Given the description of an element on the screen output the (x, y) to click on. 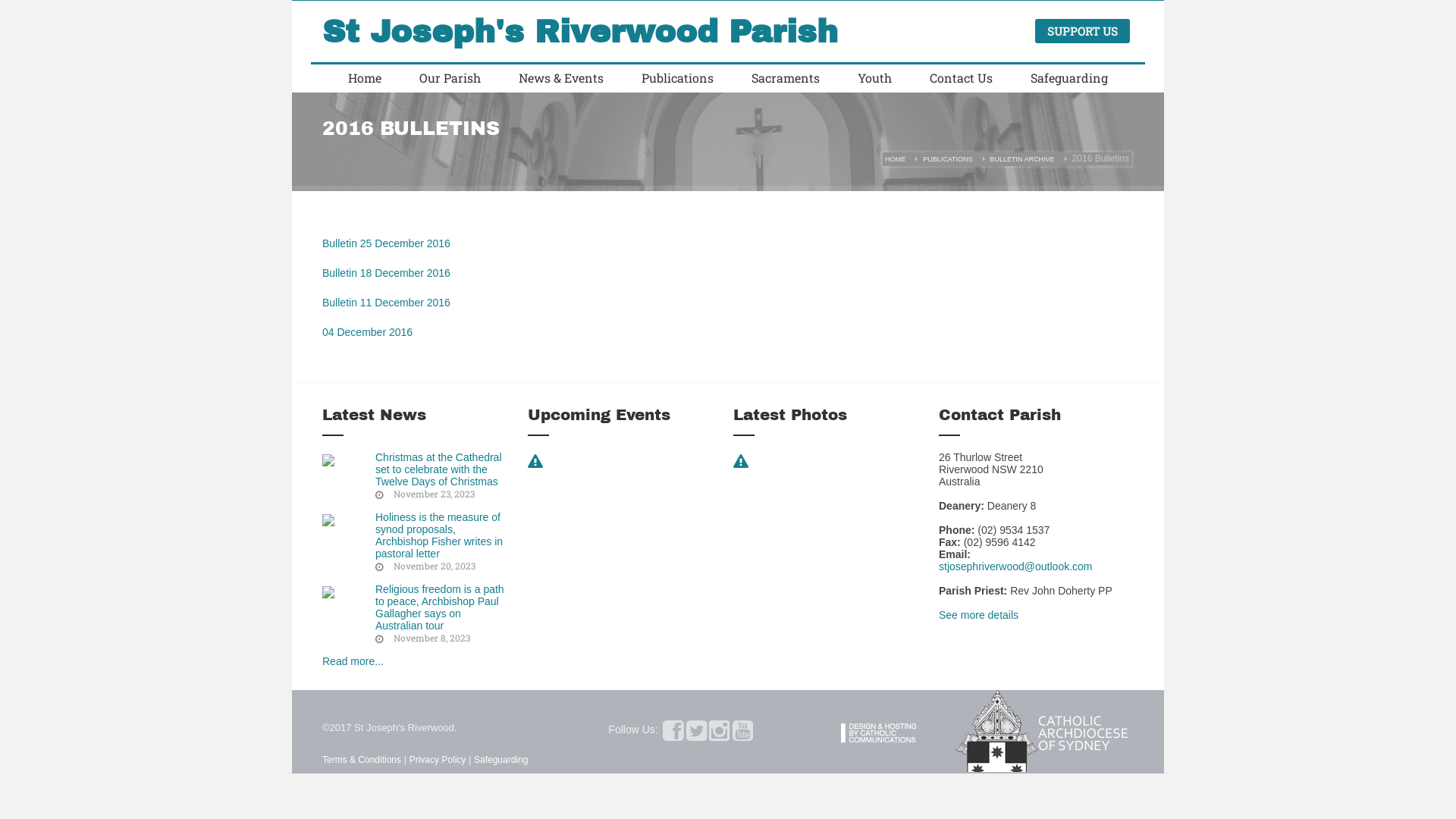
Safeguarding Element type: text (1068, 77)
Bulletin 18 December 2016 Element type: text (386, 272)
Twitter Element type: hover (696, 734)
Contact Us Element type: text (960, 77)
Home Element type: text (364, 77)
04 December 2016 Element type: text (367, 332)
SUPPORT US Element type: text (1082, 30)
Youth Element type: text (874, 77)
News & Events Element type: text (560, 77)
Read more... Element type: text (352, 661)
BULLETIN ARCHIVE Element type: text (1022, 159)
Catholic Archdiocese of Sydney  Element type: hover (1044, 730)
Terms & Conditions Element type: text (361, 759)
Facebook Element type: hover (672, 734)
PUBLICATIONS Element type: text (947, 159)
stjosephriverwood@outlook.com Element type: text (1015, 566)
See more details Element type: text (978, 614)
Publications Element type: text (677, 77)
YouTube Element type: hover (742, 734)
Bulletin 25 December 2016 Element type: text (386, 243)
HOME Element type: text (894, 159)
Sacraments Element type: text (785, 77)
Catholic Communications - Sydney Archdiocese Element type: hover (897, 730)
Instagram Element type: hover (719, 734)
Safeguarding Element type: text (500, 759)
Privacy Policy Element type: text (437, 759)
St Joseph's Riverwood Parish Element type: text (579, 32)
Our Parish Element type: text (449, 77)
Bulletin 11 December 2016 Element type: text (386, 302)
